Given the description of an element on the screen output the (x, y) to click on. 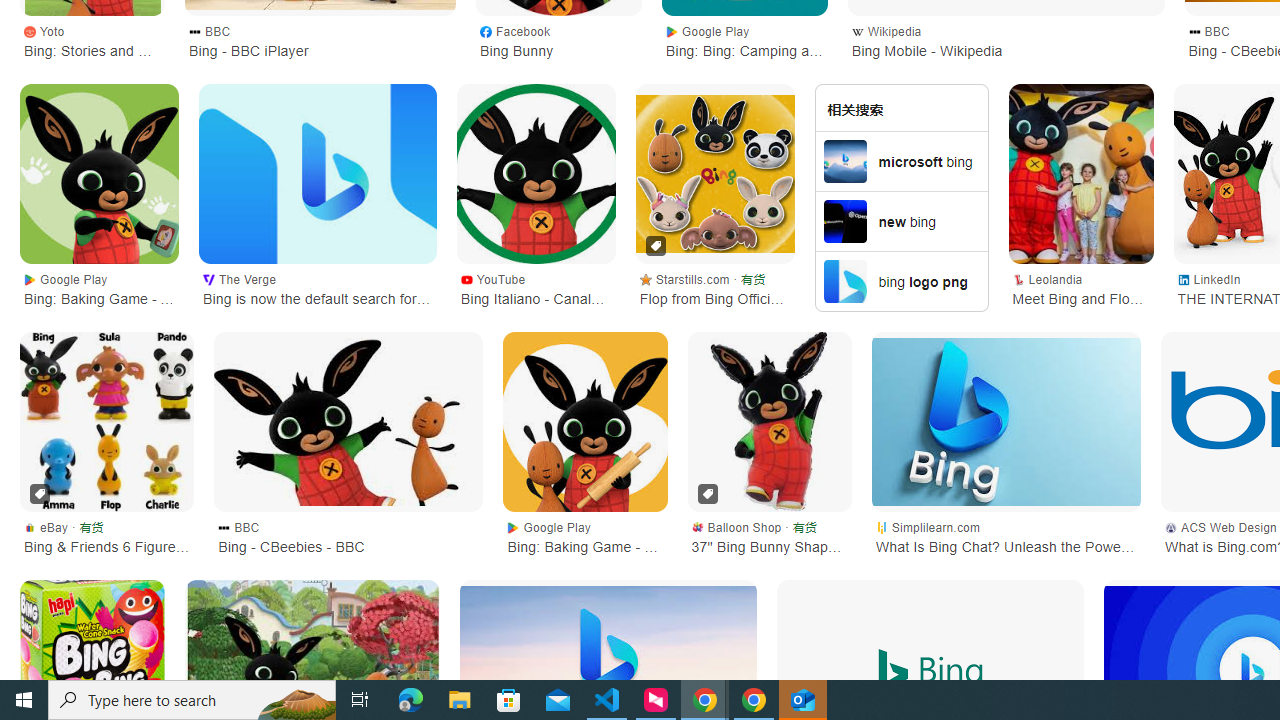
Bing - CBeebies - BBC (348, 421)
Meet Bing and Flop - Leolandia (1081, 174)
Bing Italiano - Canale Ufficiale - YouTube (535, 174)
microsoft bing (901, 160)
Flop from Bing Official 2D Card Party Mask (714, 174)
Leolandia Meet Bing and Flop - Leolandia (1081, 287)
Wikipedia Bing Mobile - Wikipedia (1005, 39)
Facebook Bing Bunny (558, 39)
Flop from Bing Official 2D Card Party Mask (714, 174)
BBC Bing - BBC iPlayer (320, 39)
Bing Italiano - Canale Ufficiale - YouTube (535, 174)
